Given the description of an element on the screen output the (x, y) to click on. 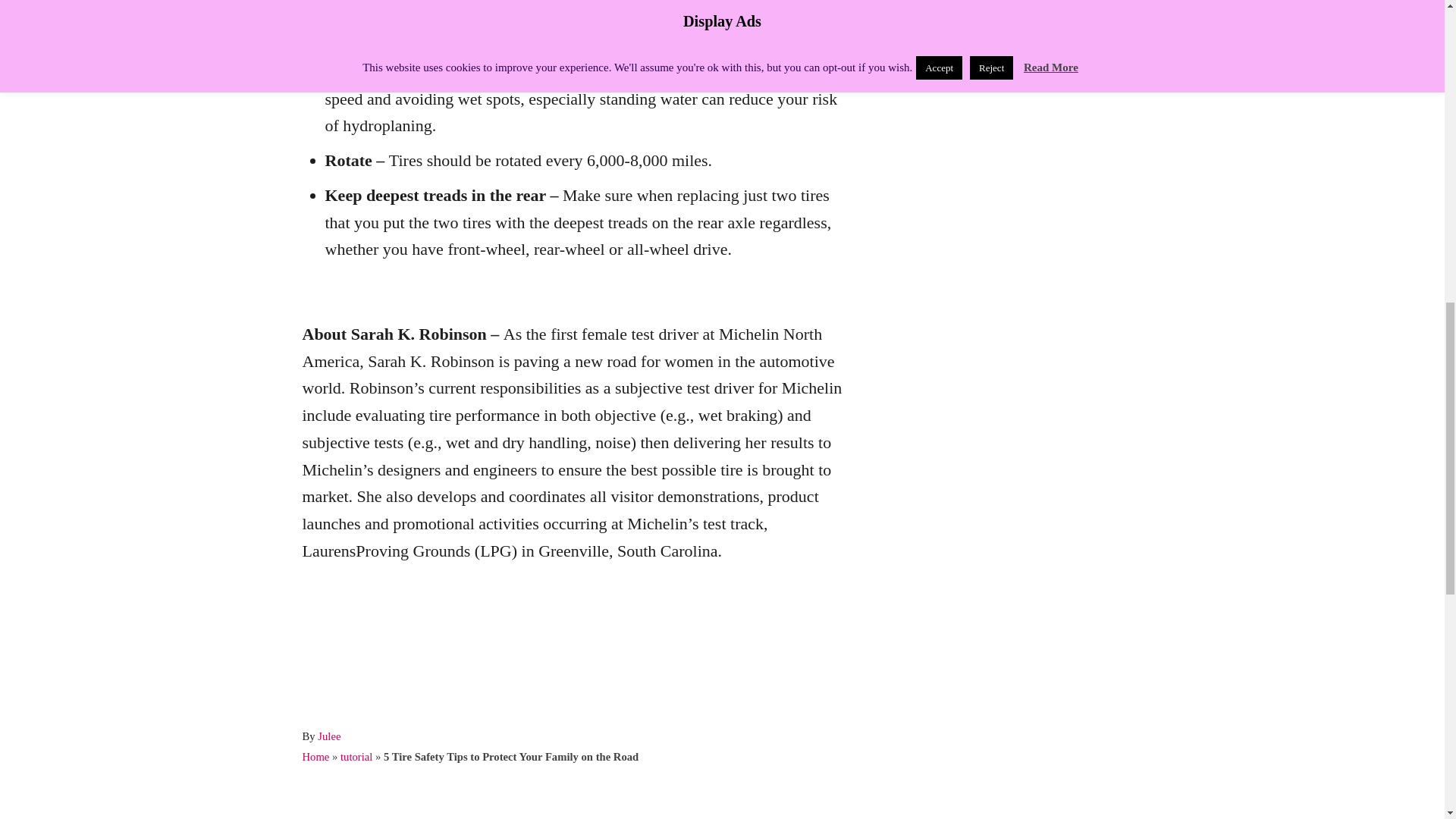
tutorial (356, 756)
Julee (328, 736)
Home (315, 756)
